Given the description of an element on the screen output the (x, y) to click on. 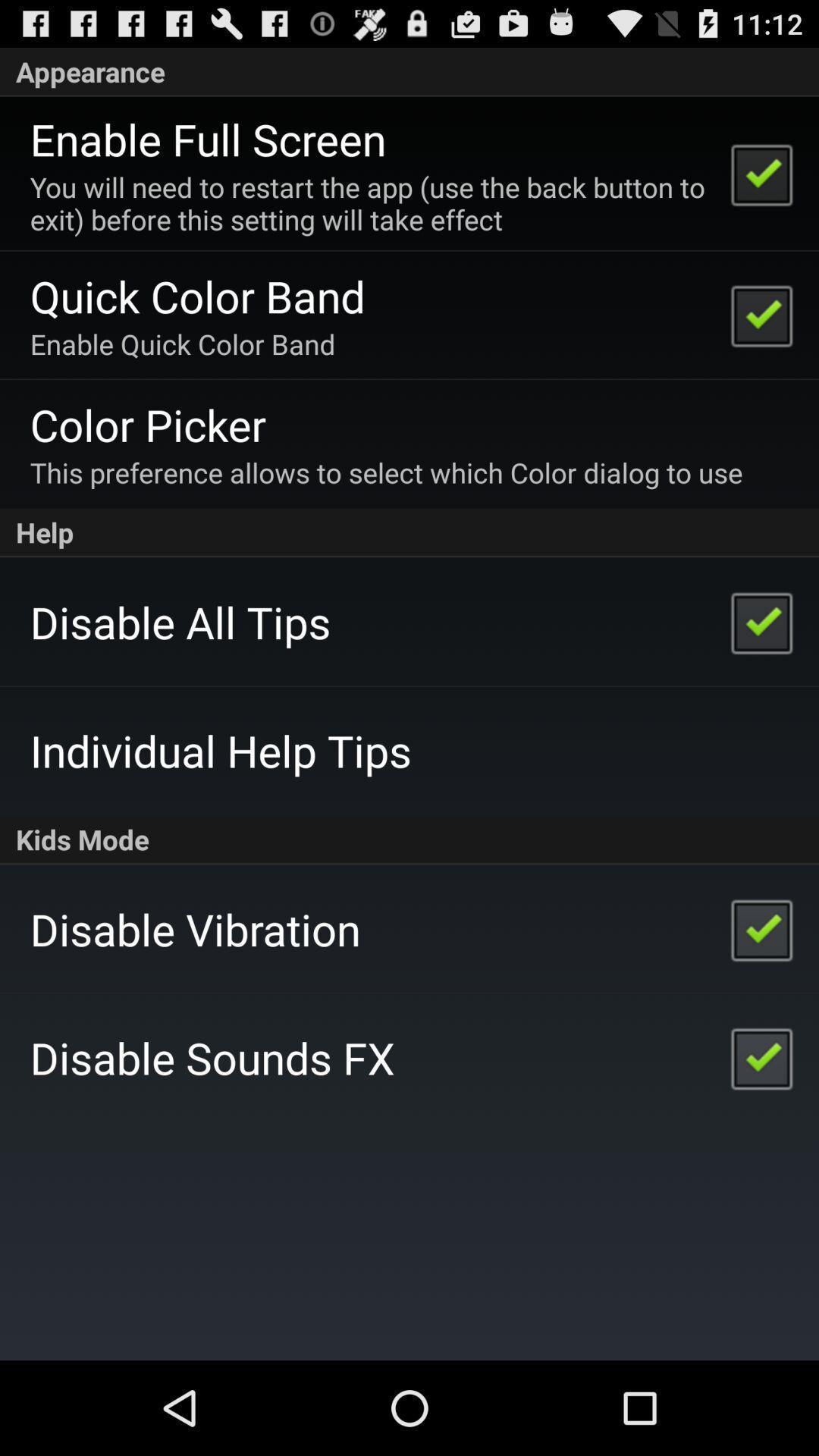
turn off item below the color picker app (386, 472)
